Given the description of an element on the screen output the (x, y) to click on. 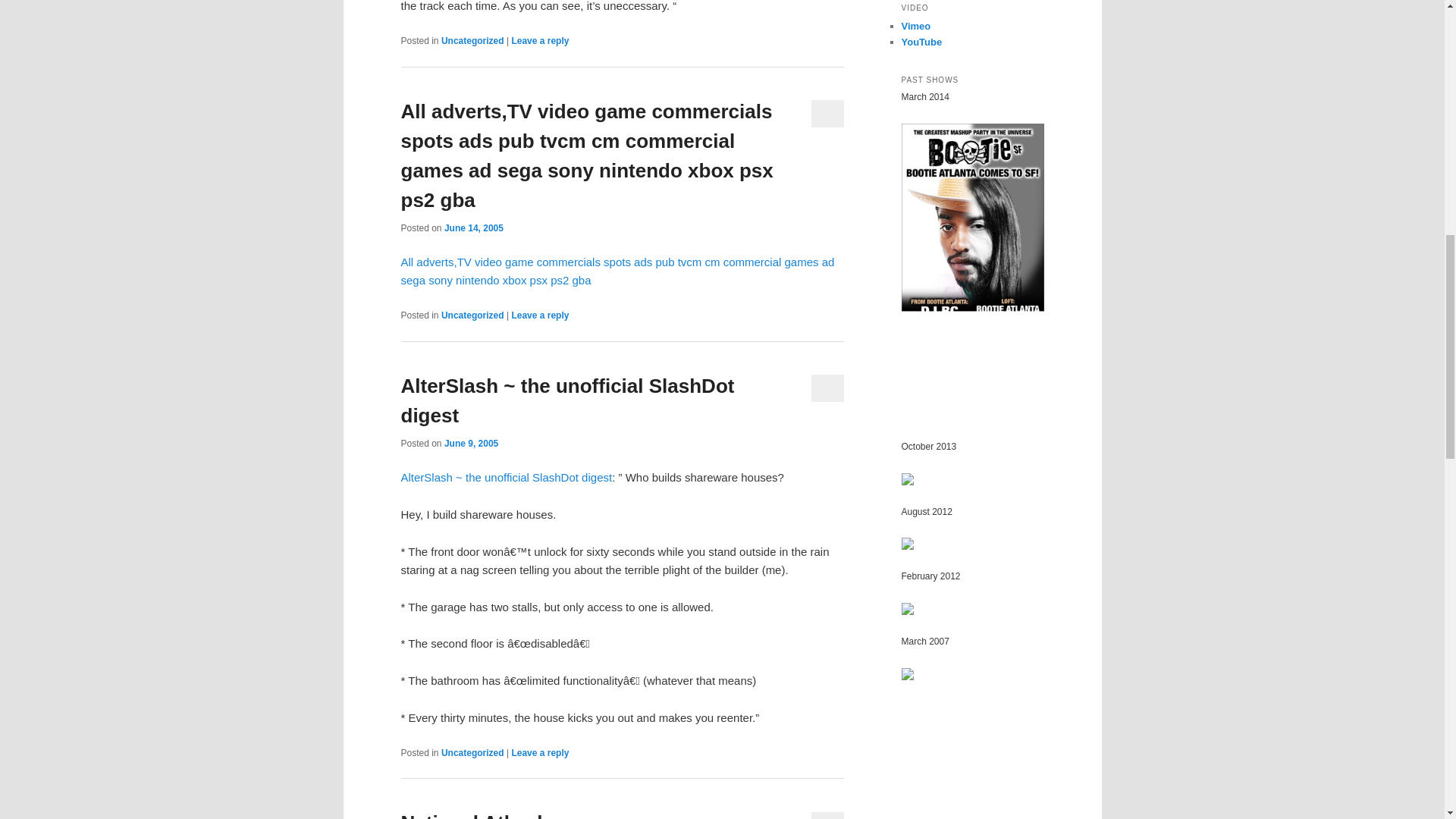
12:32 PM (473, 227)
June 14, 2005 (473, 227)
Uncategorized (472, 752)
Leave a reply (540, 40)
Uncategorized (472, 40)
June 9, 2005 (470, 443)
Uncategorized (472, 315)
5:56 PM (470, 443)
